Given the description of an element on the screen output the (x, y) to click on. 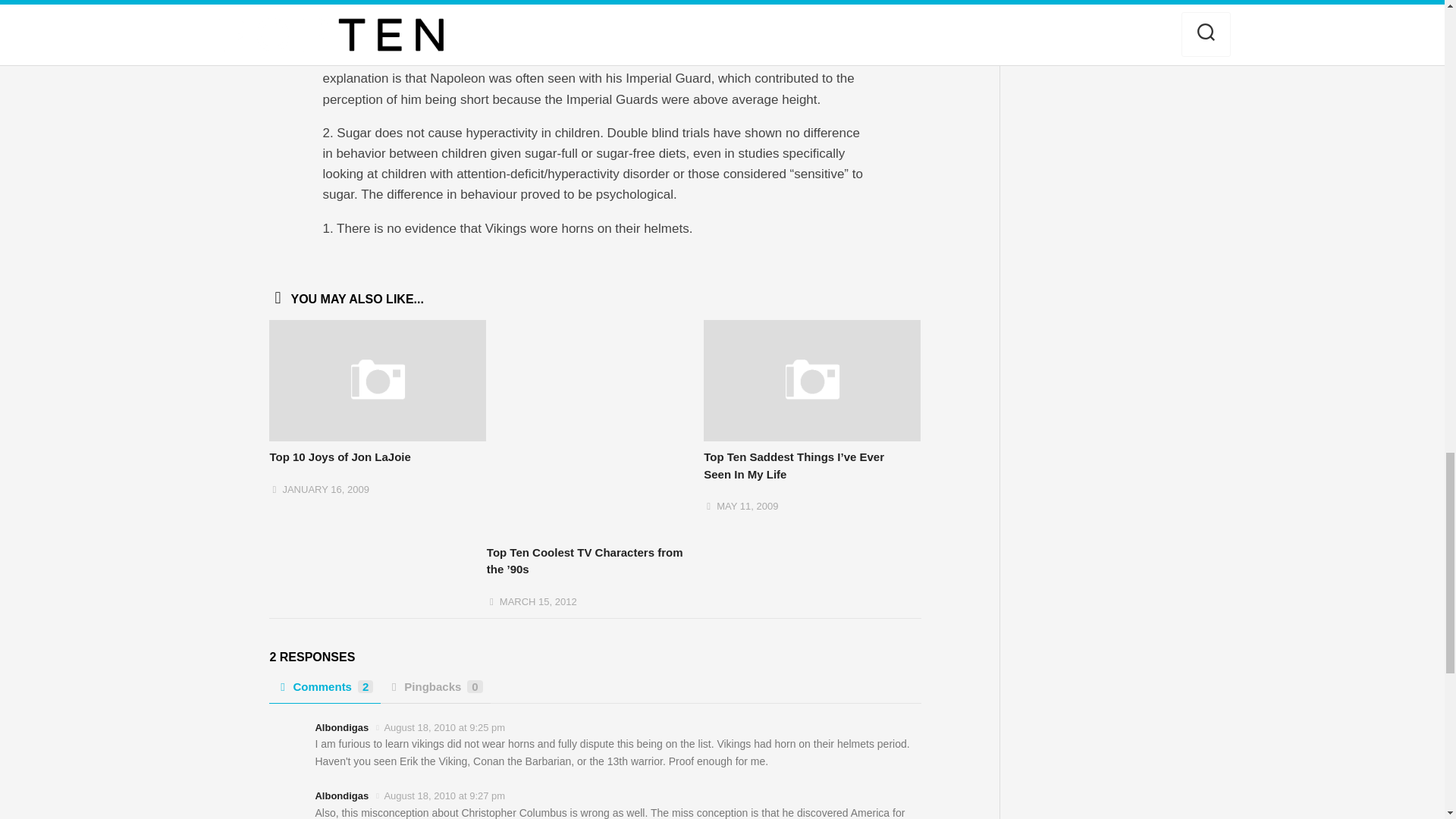
Pingbacks0 (434, 691)
Comments2 (324, 691)
August 18, 2010 at 9:25 pm (444, 727)
Top 10 Joys of Jon LaJoie (339, 456)
August 18, 2010 at 9:27 pm (444, 795)
